Given the description of an element on the screen output the (x, y) to click on. 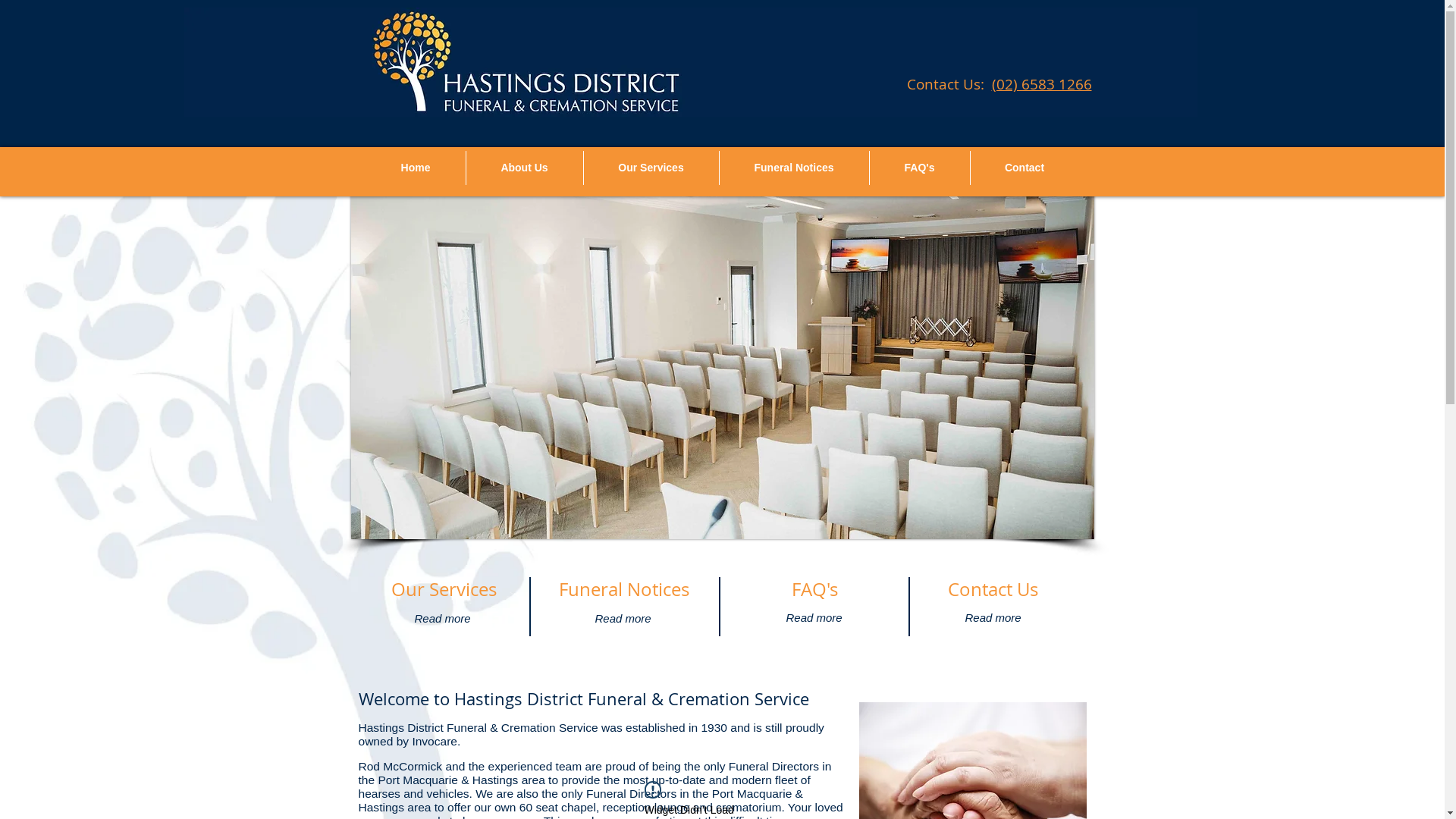
Read more Element type: text (813, 618)
Read more Element type: text (622, 618)
About Us Element type: text (523, 167)
Read more Element type: text (992, 618)
FAQ's Element type: text (919, 167)
BrianHutchinsFunerals_Web_headerBG.jpg Element type: hover (689, 61)
Our Services Element type: text (650, 167)
Funeral Notices Element type: text (793, 167)
Read more Element type: text (442, 618)
Home Element type: text (414, 167)
Contact Element type: text (1024, 167)
(02) 6583 1266 Element type: text (1041, 84)
